Given the description of an element on the screen output the (x, y) to click on. 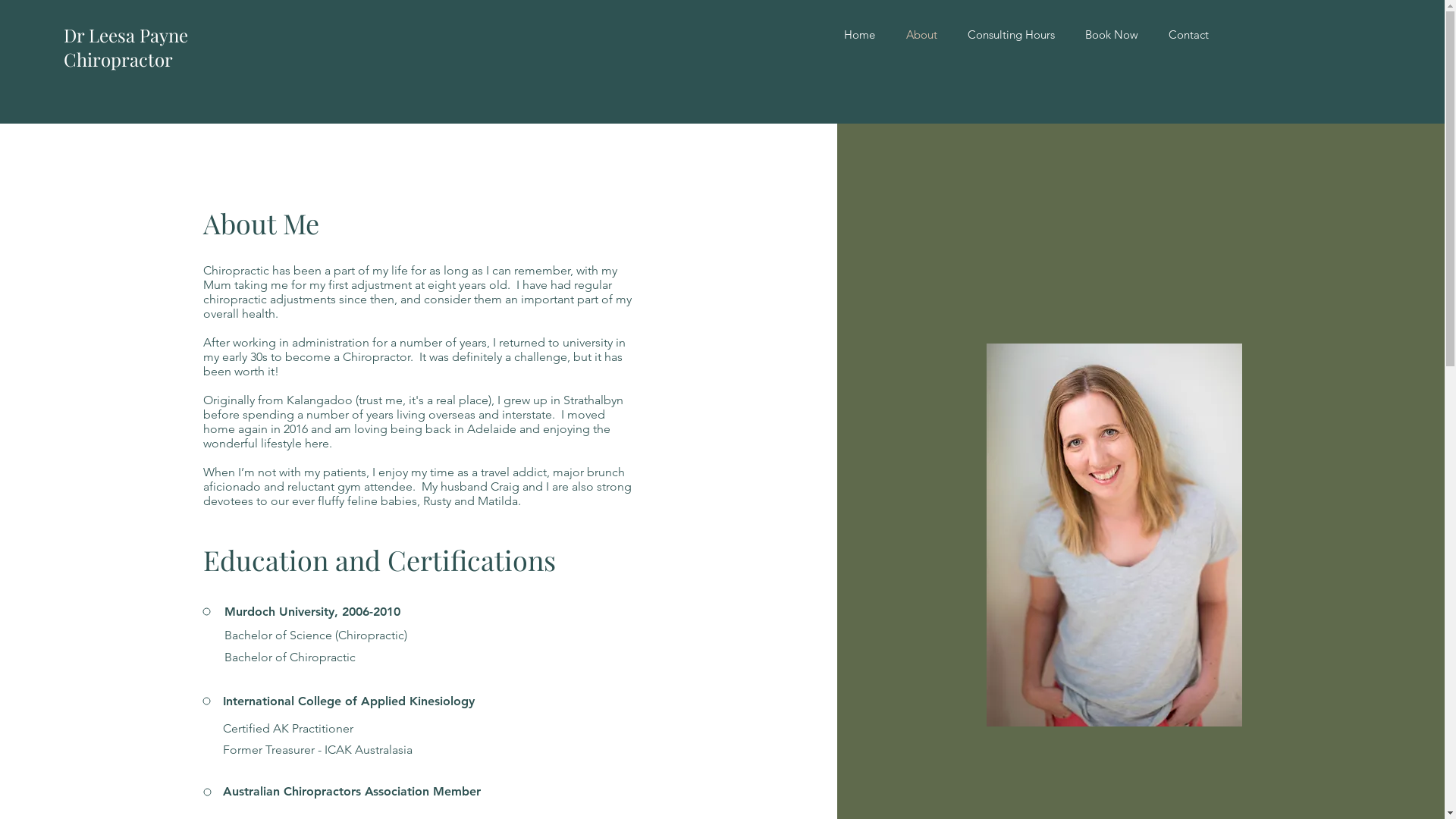
Consulting Hours Element type: text (1011, 34)
Home Element type: text (859, 34)
Book Now Element type: text (1111, 34)
About Element type: text (921, 34)
Dr Leesa Payne Element type: text (125, 34)
Contact Element type: text (1188, 34)
